Given the description of an element on the screen output the (x, y) to click on. 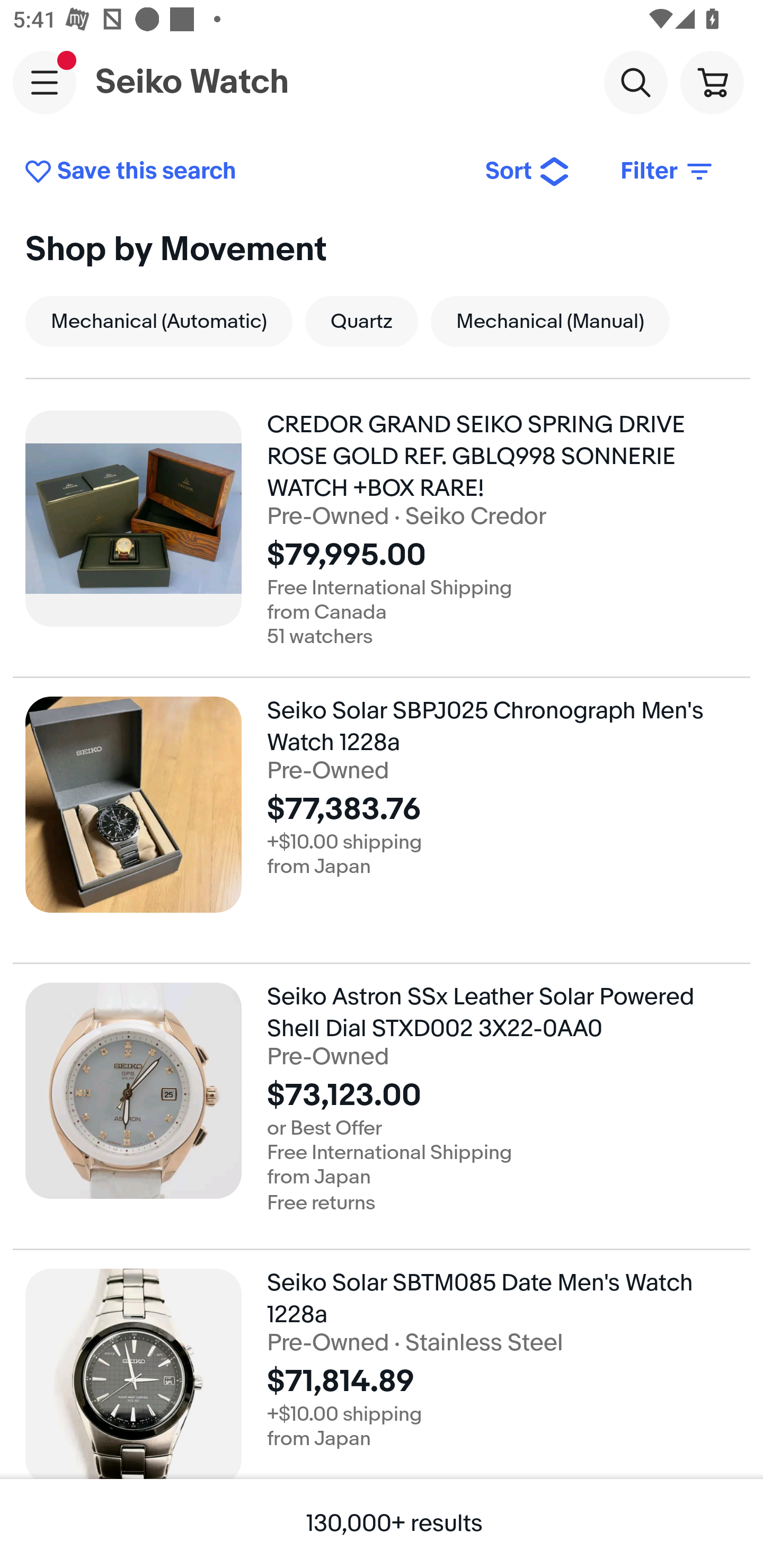
Main navigation, notification is pending, open (44, 82)
Search (635, 81)
Cart button shopping cart (711, 81)
Save this search (241, 171)
Sort (527, 171)
Filter (667, 171)
Quartz Quartz, Movement (361, 321)
Mechanical (Manual) Mechanical (Manual), Movement (550, 321)
